Given the description of an element on the screen output the (x, y) to click on. 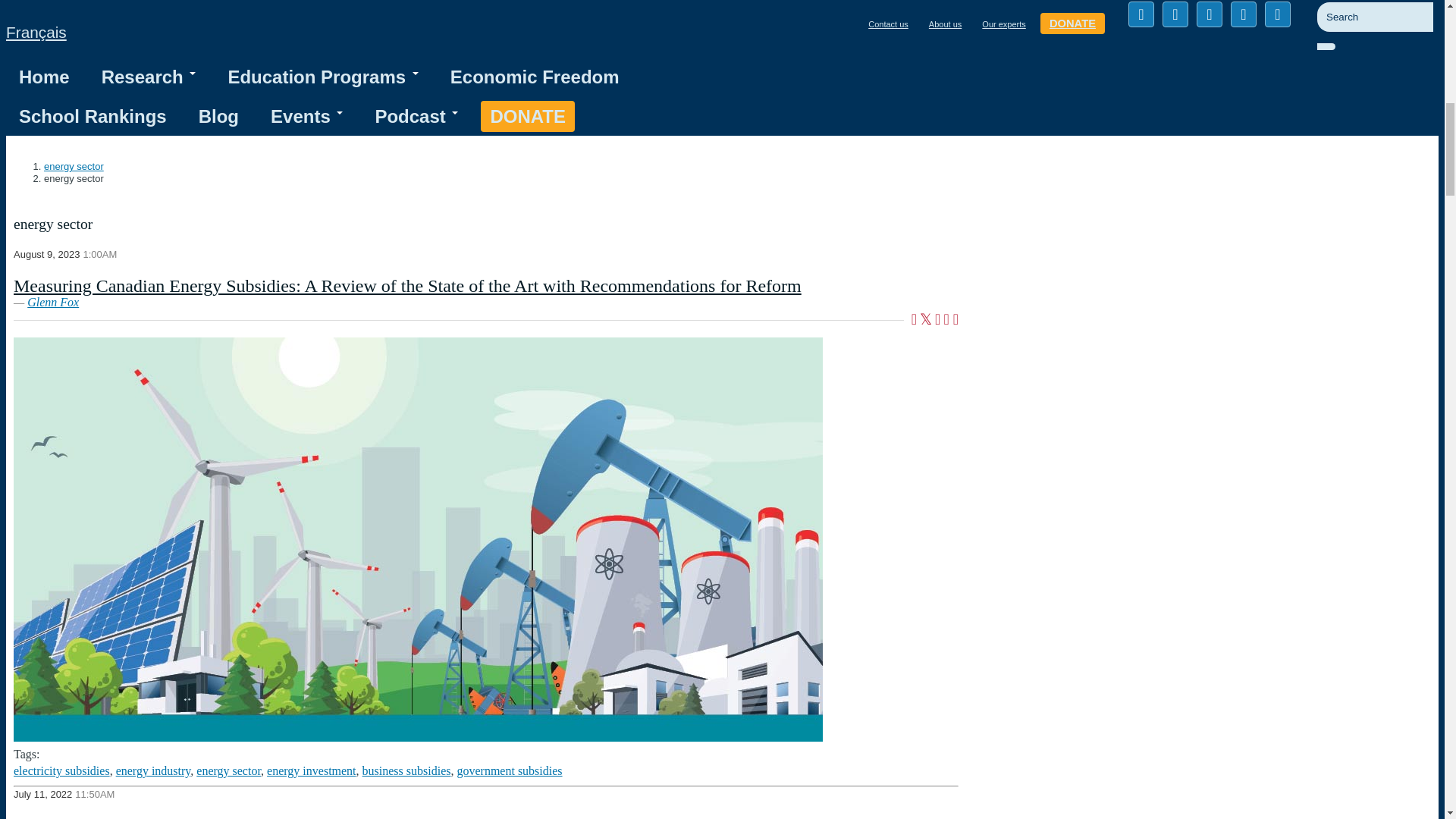
School Rankings (93, 116)
Home (44, 77)
Search (1339, 53)
Research (149, 77)
About us (945, 23)
Our experts (1002, 23)
LinkedIn (1209, 14)
Facebook (1141, 14)
Twitter (1174, 14)
